Given the description of an element on the screen output the (x, y) to click on. 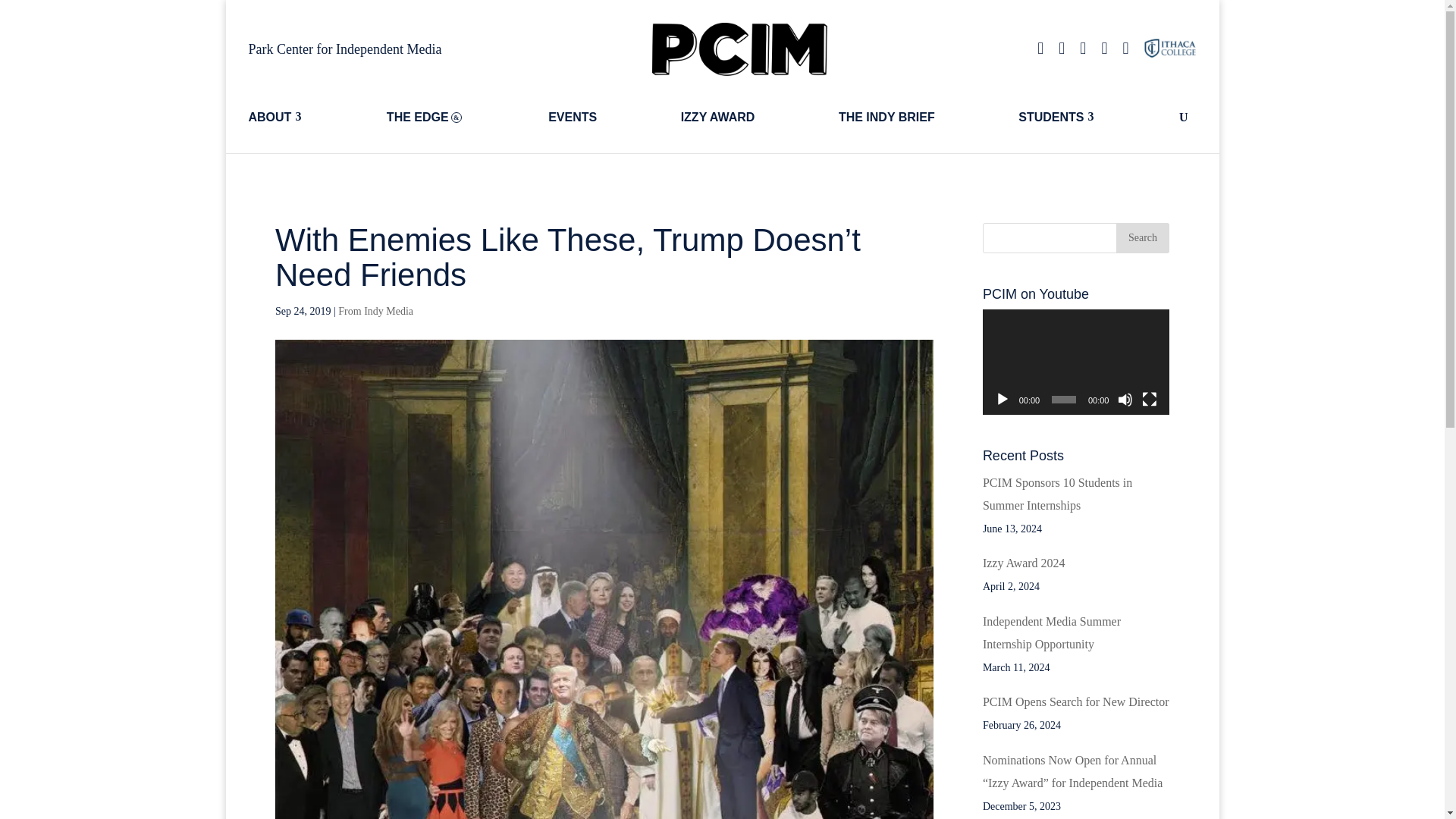
Fullscreen (1149, 399)
Mute (1125, 399)
PMkP5l8s (739, 49)
THE INDY BRIEF (919, 117)
IZZY AWARD (751, 117)
EVENTS (605, 117)
Play (1002, 399)
ABOUT (308, 117)
STUDENTS (1089, 117)
Ithaca College (1169, 48)
